Given the description of an element on the screen output the (x, y) to click on. 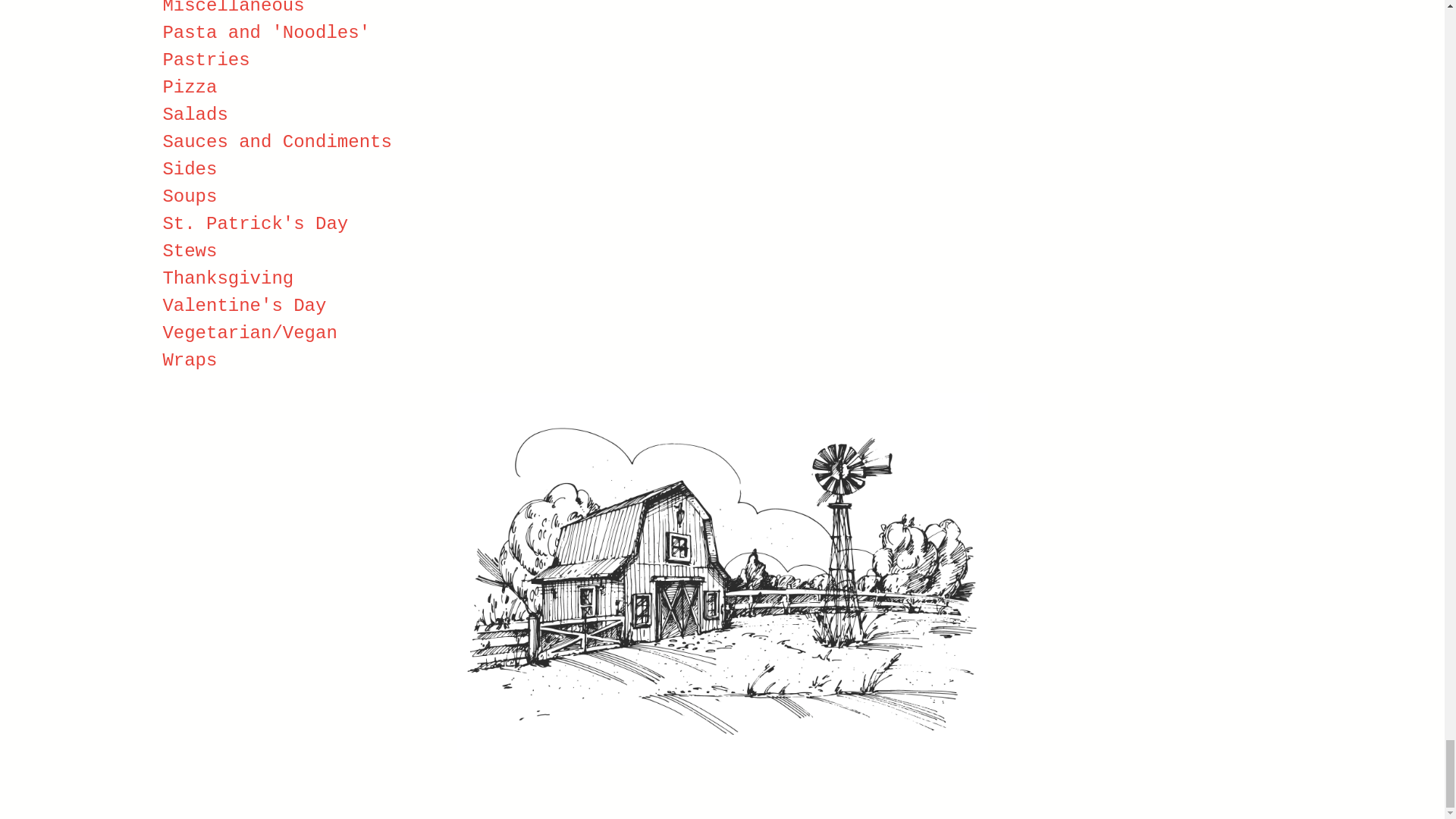
Salads (194, 114)
Pizza (188, 86)
Pasta and 'Noodles' (265, 32)
Pastries (204, 59)
Miscellaneous (232, 7)
